Given the description of an element on the screen output the (x, y) to click on. 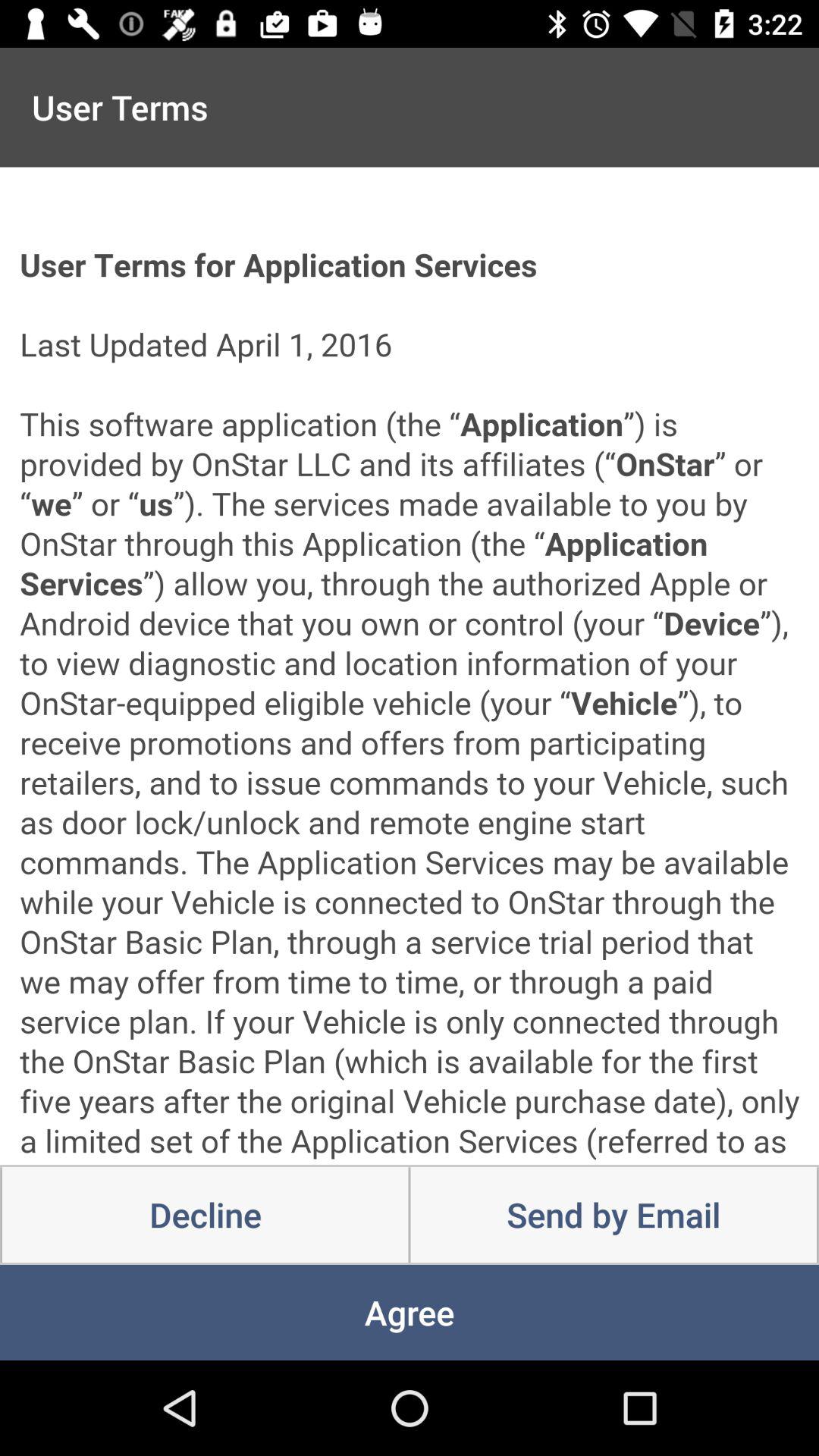
scroll through terms (409, 665)
